Given the description of an element on the screen output the (x, y) to click on. 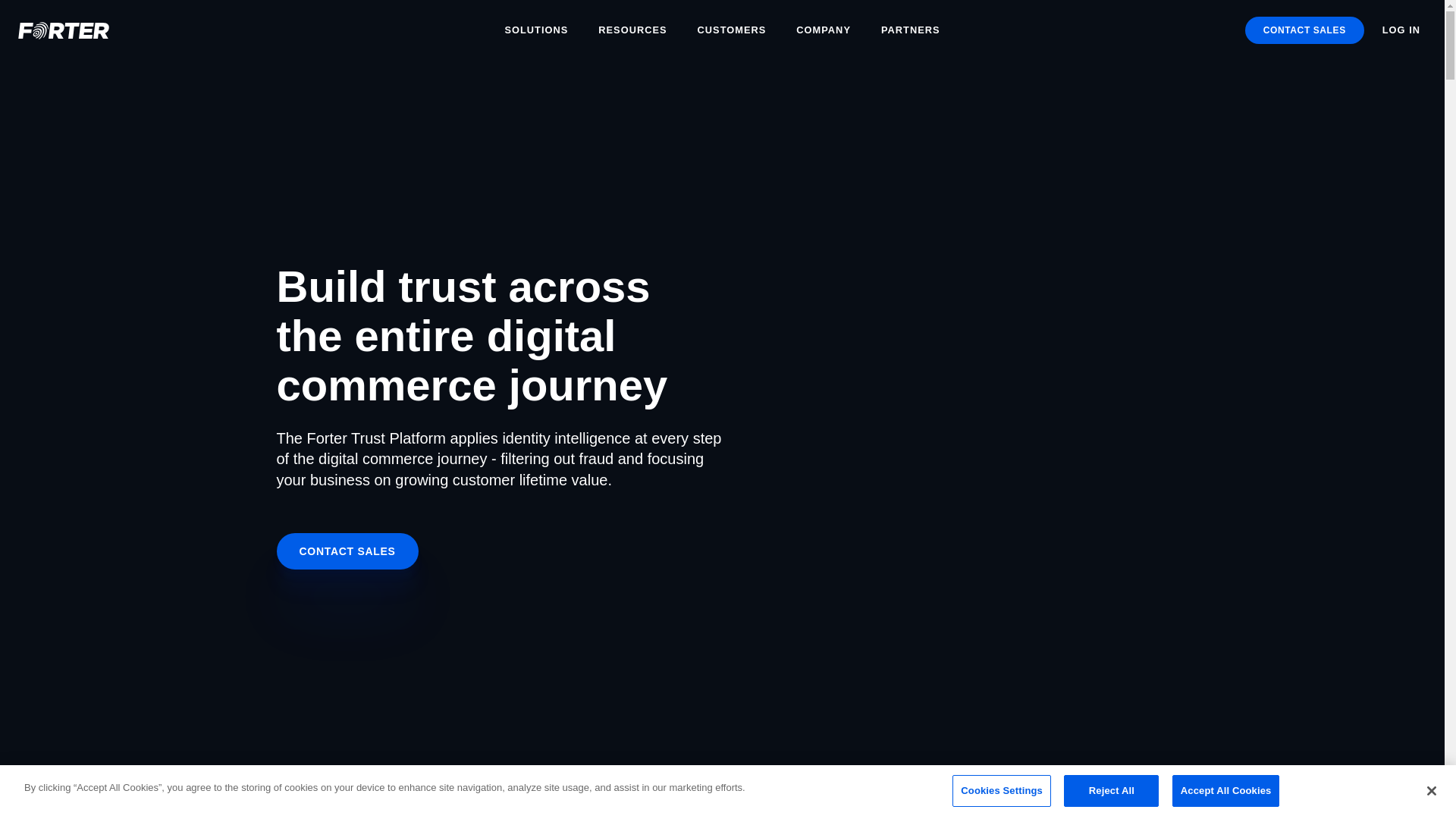
CUSTOMERS (732, 30)
SOLUTIONS (535, 30)
RESOURCES (632, 30)
CONTACT SALES (1304, 30)
CONTACT SALES (346, 551)
Forter (126, 29)
LOG IN (1400, 30)
PARTNERS (910, 30)
COMPANY (823, 30)
